Given the description of an element on the screen output the (x, y) to click on. 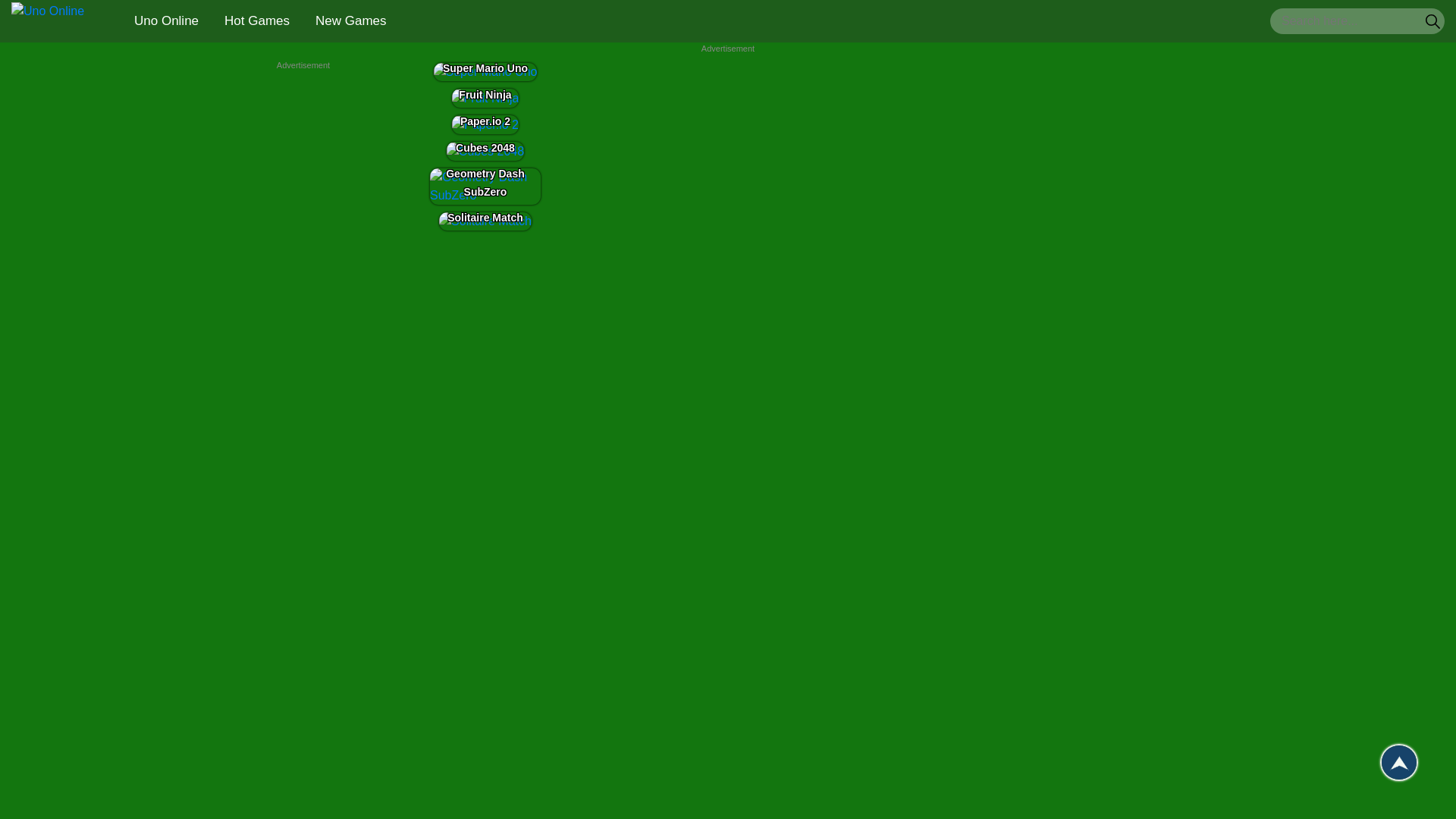
Solitaire Match (485, 221)
Fruit Ninja (485, 97)
Solitaire Match (485, 221)
Paper.io 2 (484, 125)
Fruit Ninja (485, 98)
Cubes 2048 (485, 151)
Uno Online (47, 21)
Super Mario Uno (485, 71)
Paper.io 2 (485, 124)
Geometry Dash SubZero (485, 186)
New Games (350, 20)
Uno Online (166, 20)
Super Mario Uno (485, 72)
Hot Games (256, 20)
Cubes 2048 (484, 150)
